Given the description of an element on the screen output the (x, y) to click on. 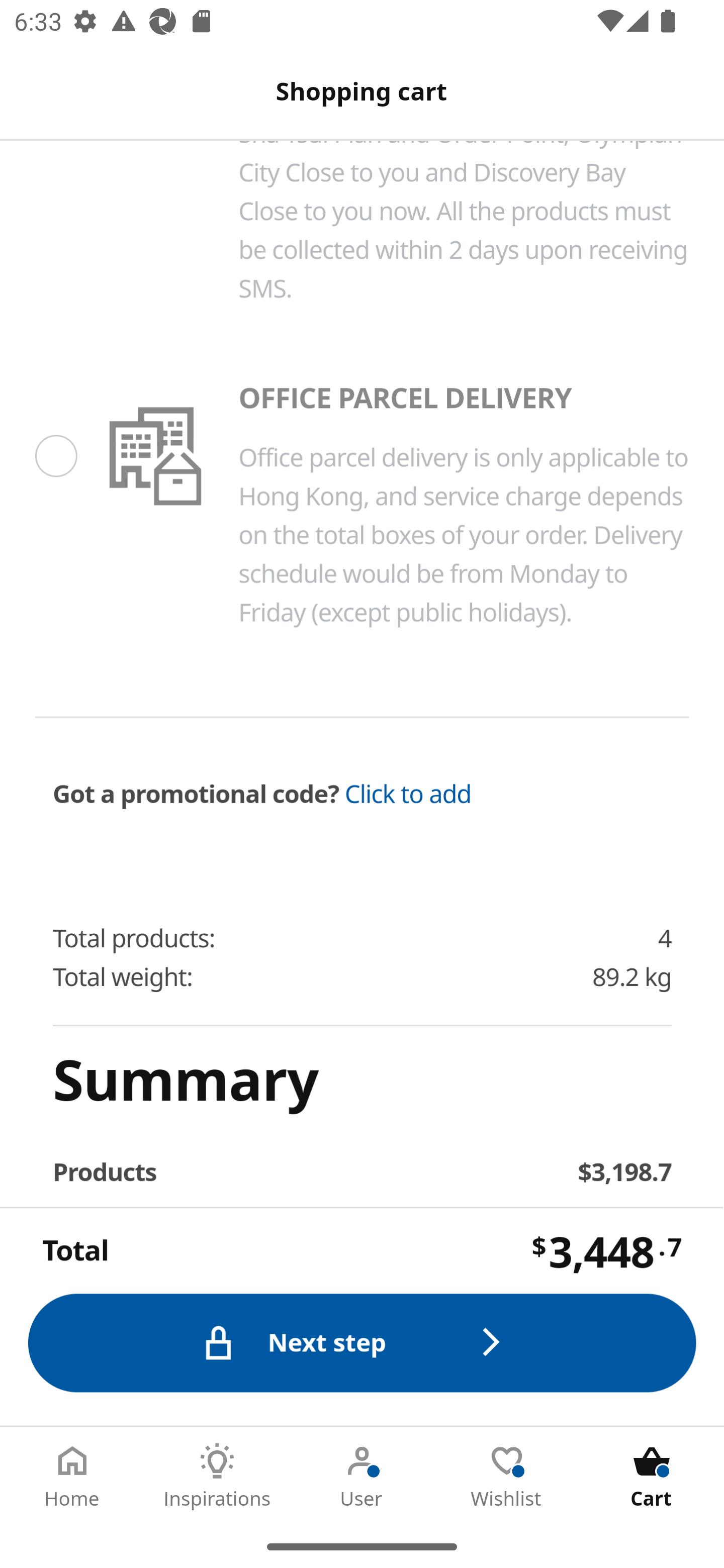
Click to add (408, 794)
 Next step  (363, 1342)
Home
Tab 1 of 5 (72, 1476)
Inspirations
Tab 2 of 5 (216, 1476)
User
Tab 3 of 5 (361, 1476)
Wishlist
Tab 4 of 5 (506, 1476)
Cart
Tab 5 of 5 (651, 1476)
